Given the description of an element on the screen output the (x, y) to click on. 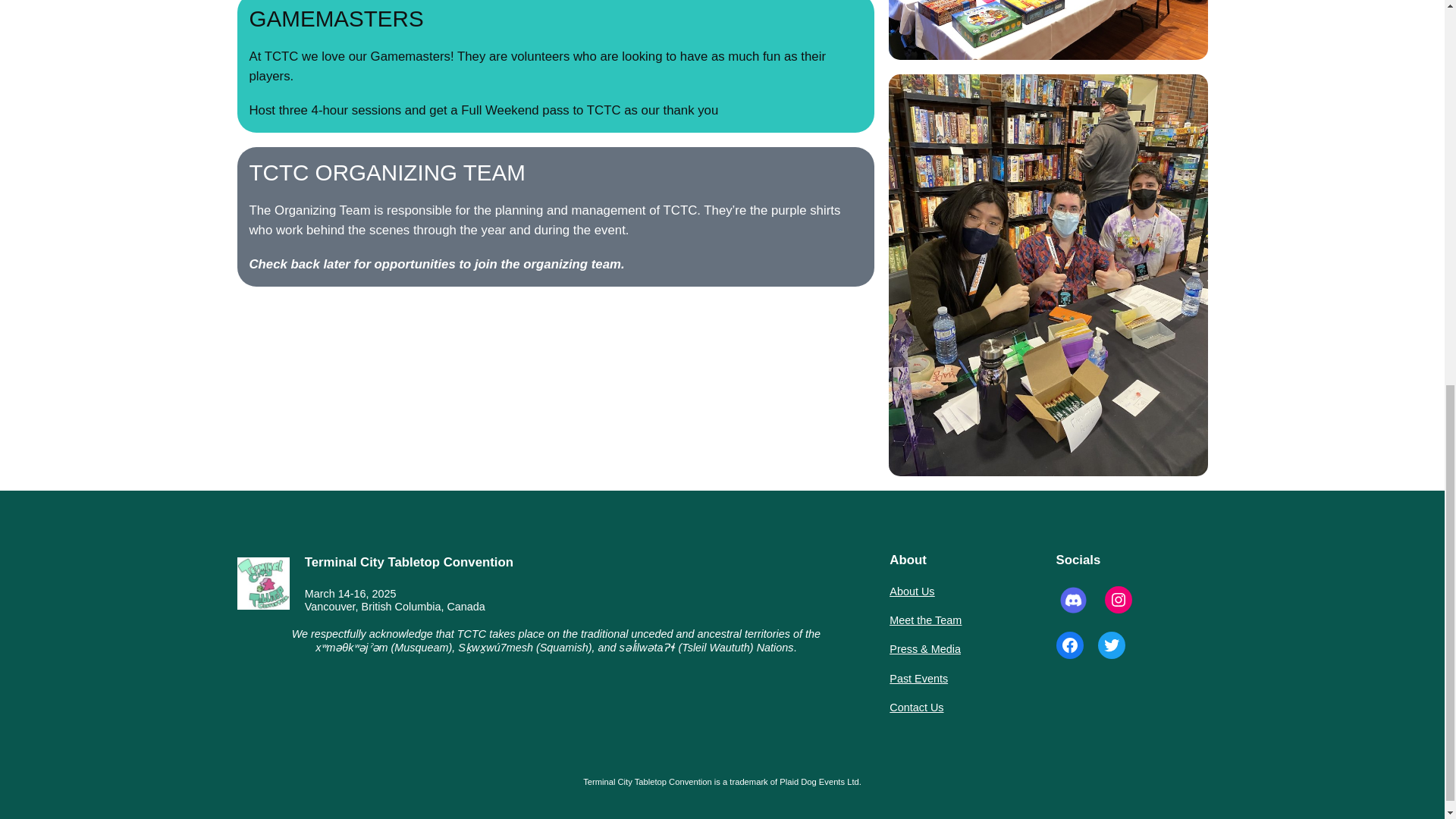
About Us (911, 591)
Meet the Team (924, 619)
